Given the description of an element on the screen output the (x, y) to click on. 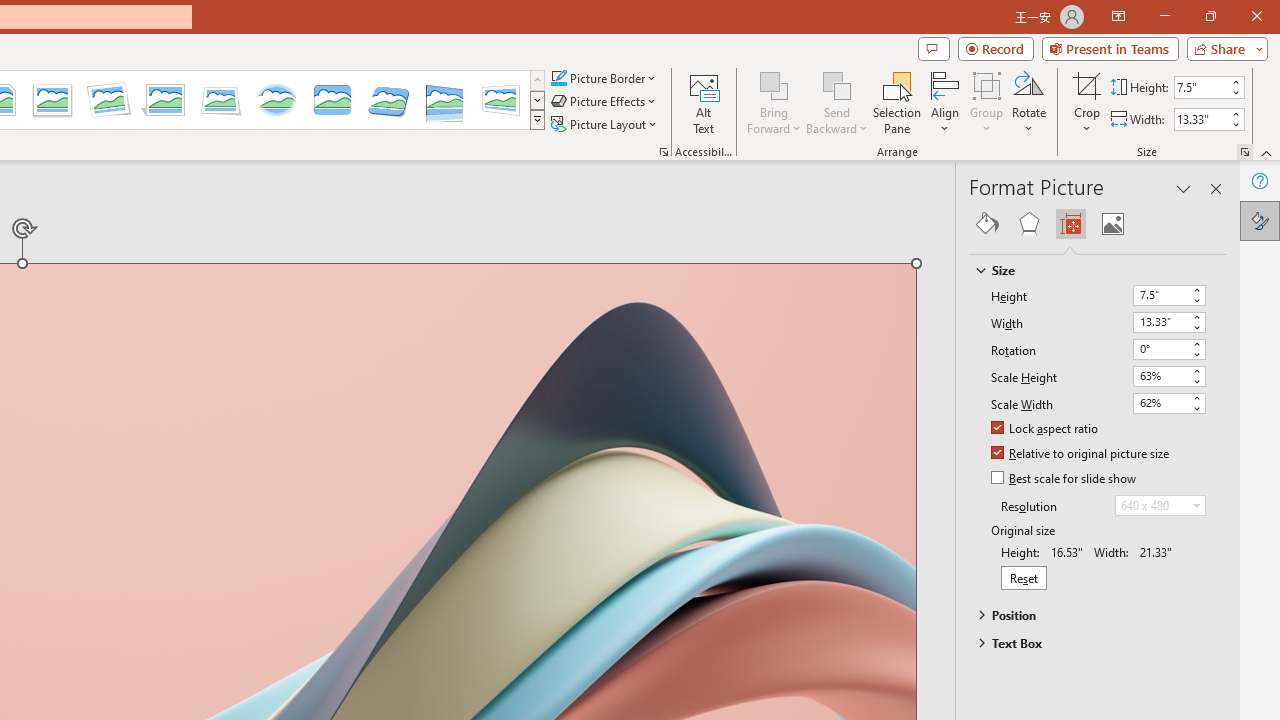
Ribbon Display Options (1118, 16)
Reset (1023, 577)
Class: NetUIImage (537, 119)
Resolution (1159, 505)
Bring Forward (773, 84)
Effects (1028, 223)
Relaxed Perspective, White (221, 100)
Rotated, White (108, 100)
Comments (933, 48)
Minimize (1164, 16)
Text Box (1088, 643)
Shape Width (1201, 119)
Format Picture (1260, 220)
Height (1160, 294)
